Given the description of an element on the screen output the (x, y) to click on. 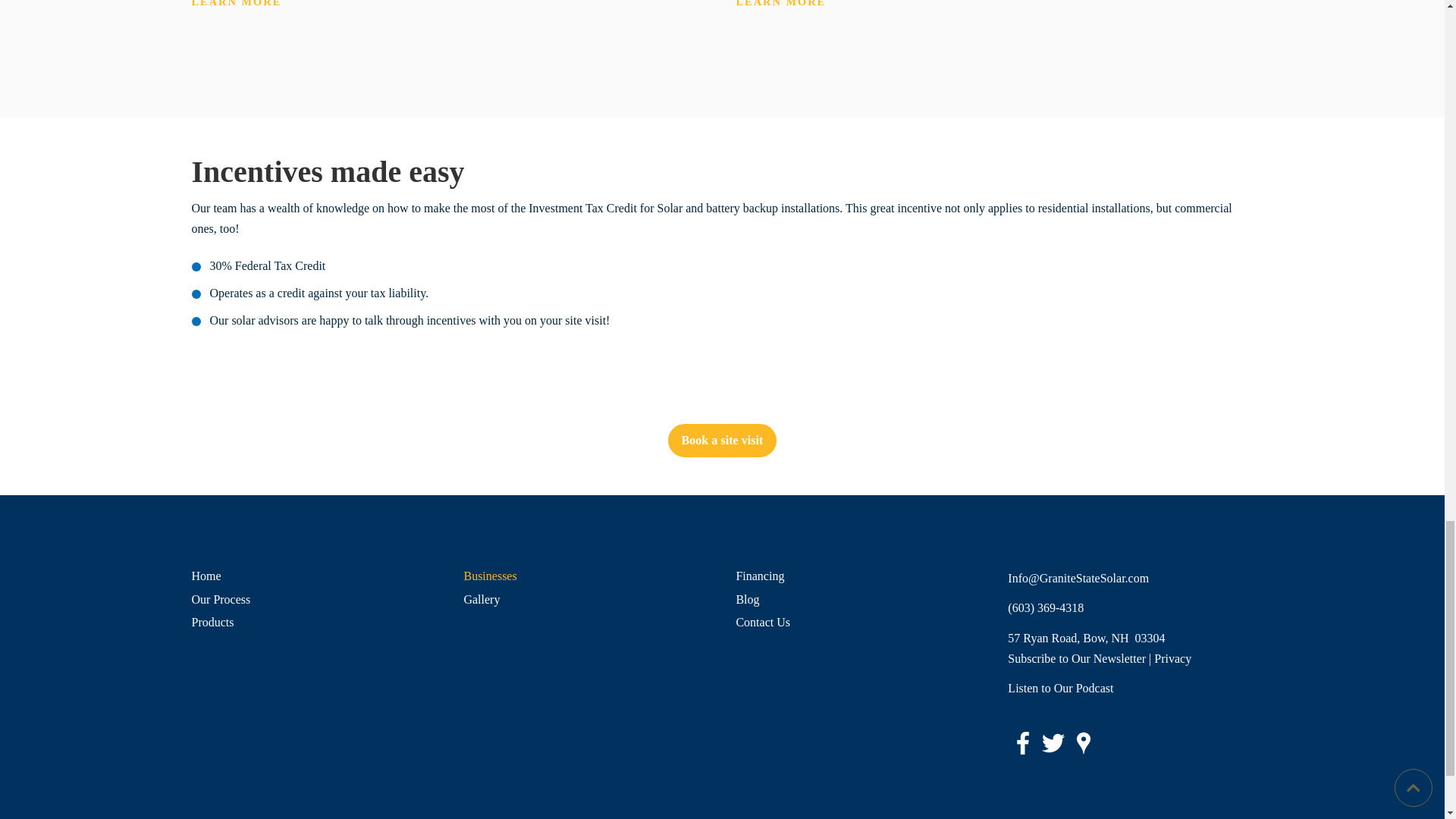
Book a site visit (722, 440)
Financing (857, 576)
Blog (857, 599)
LEARN MORE (235, 3)
Gallery (585, 599)
Home (312, 576)
LEARN MORE (780, 3)
Products (312, 622)
Our Process (312, 599)
Businesses (585, 576)
